Given the description of an element on the screen output the (x, y) to click on. 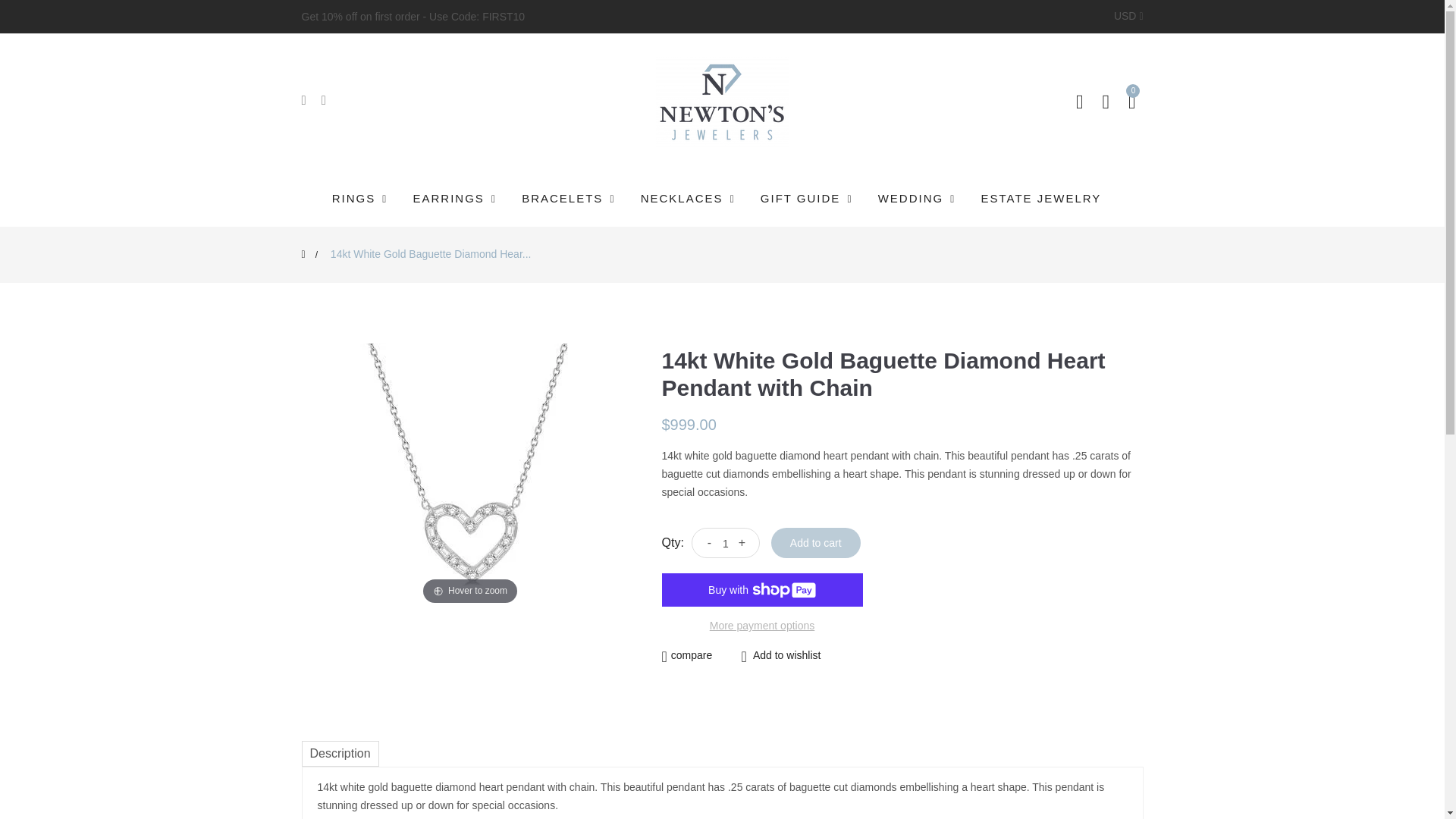
GIFT GUIDE (807, 198)
BRACELETS (569, 198)
RINGS (366, 198)
EARRINGS (456, 198)
NECKLACES (688, 198)
